Given the description of an element on the screen output the (x, y) to click on. 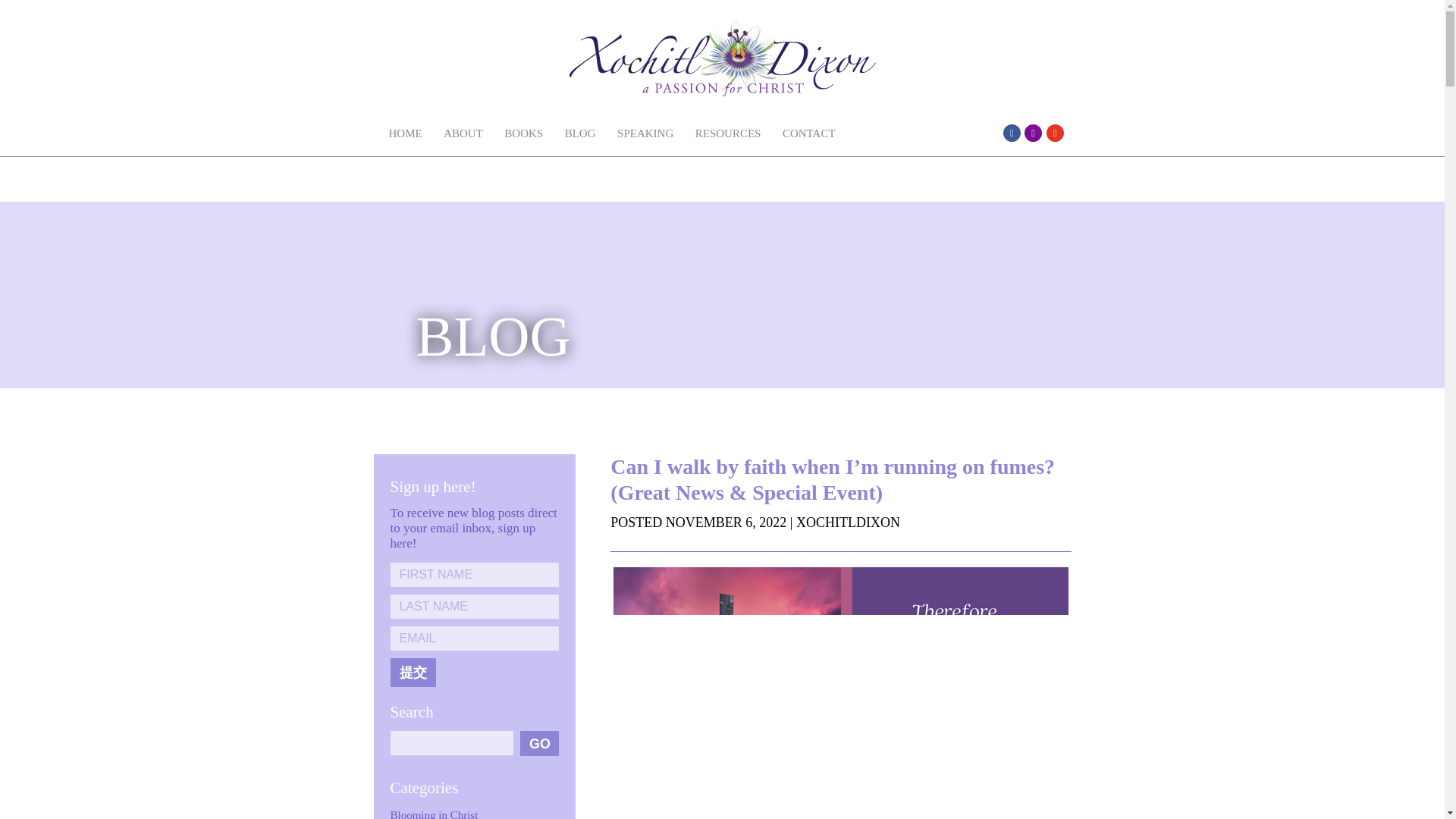
CONTACT (808, 133)
Facebook (1011, 132)
Go (539, 743)
RESOURCES (727, 133)
ABOUT (462, 133)
Instagram (1033, 132)
SPEAKING (645, 133)
YouTube (1055, 132)
HOME (404, 133)
BOOKS (523, 133)
